Given the description of an element on the screen output the (x, y) to click on. 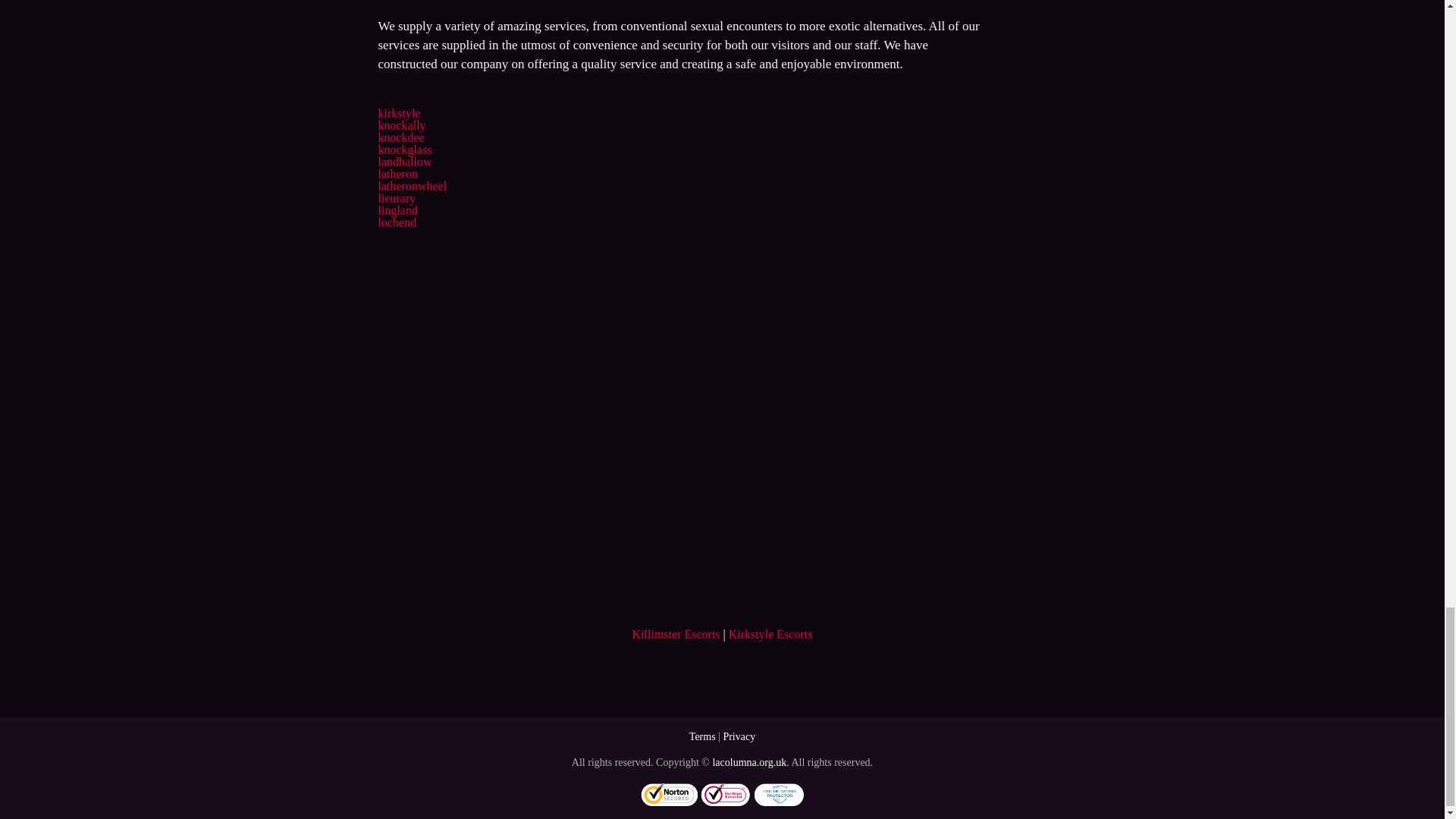
latheron (396, 173)
lieurary (395, 197)
latheronwheel (411, 185)
knockglass (403, 149)
lacolumna.org.uk (748, 762)
knockally (401, 124)
kirkstyle (398, 113)
Kirkstyle Escorts (770, 634)
landhallow (403, 161)
Privacy (738, 736)
